Given the description of an element on the screen output the (x, y) to click on. 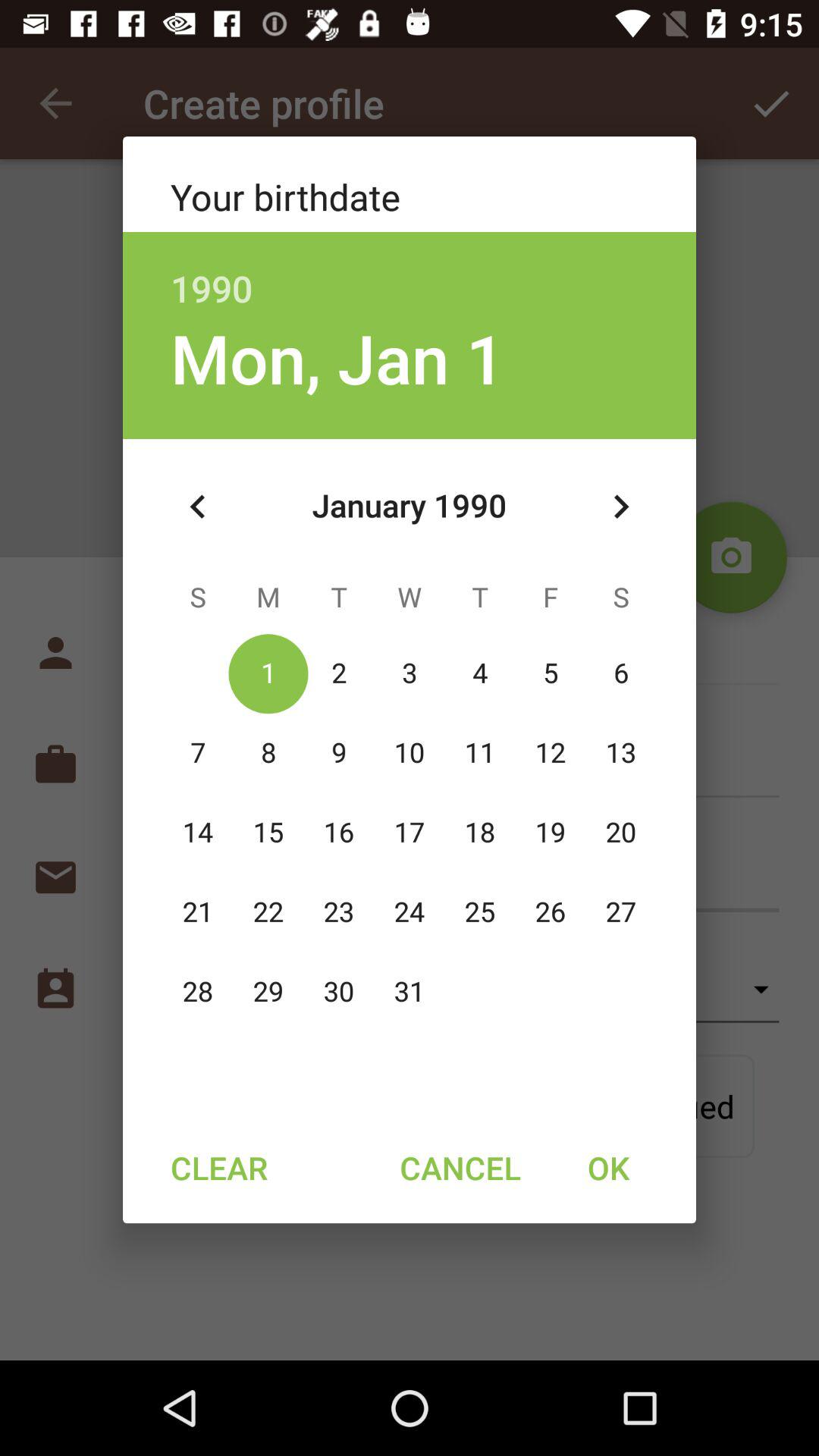
tap item next to the ok icon (459, 1167)
